Given the description of an element on the screen output the (x, y) to click on. 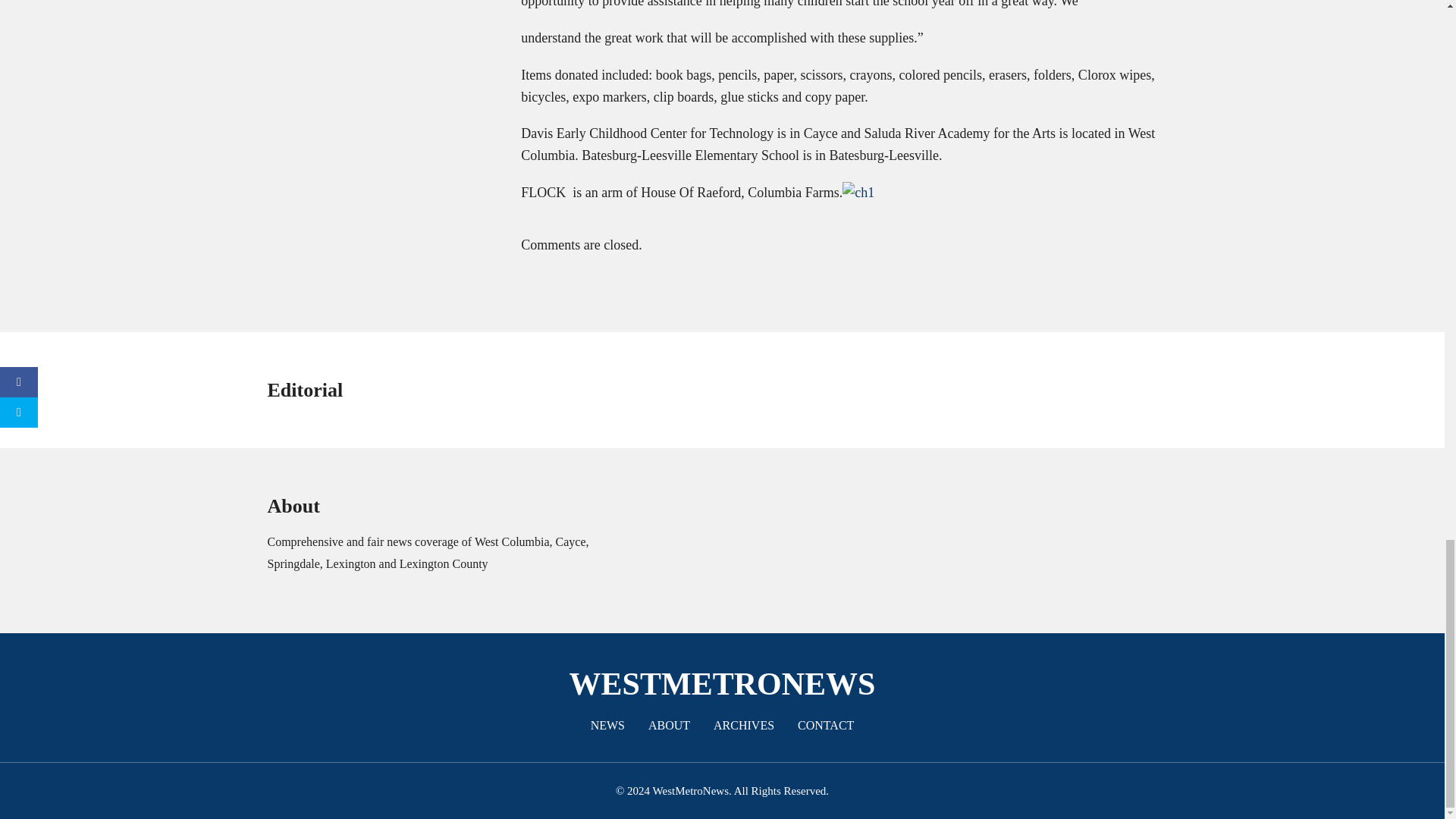
WESTMETRONEWS (722, 683)
ABOUT (669, 725)
CONTACT (825, 725)
ARCHIVES (743, 725)
westmetronews (722, 683)
NEWS (607, 725)
